Given the description of an element on the screen output the (x, y) to click on. 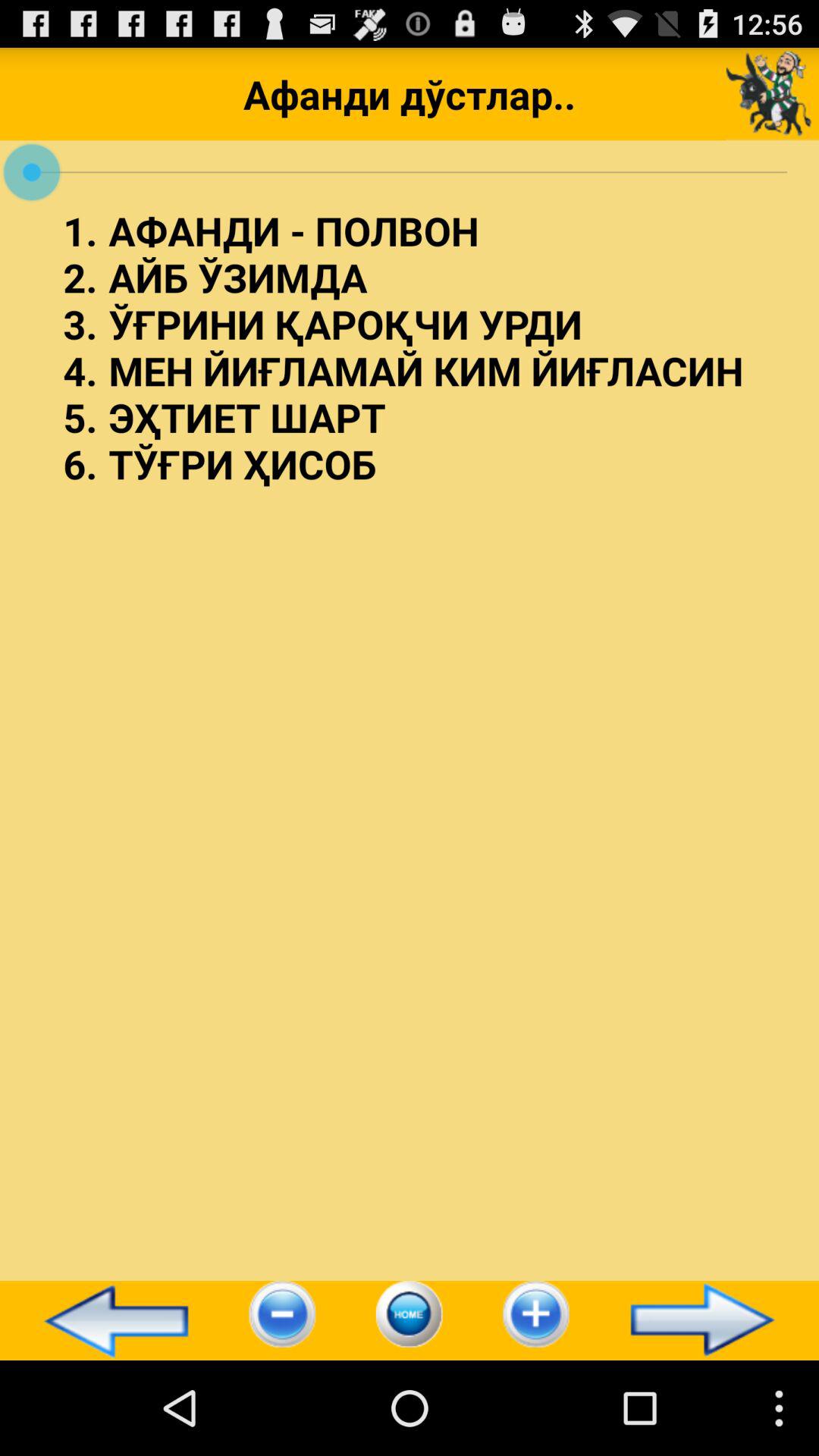
press icon at the bottom right corner (709, 1320)
